Given the description of an element on the screen output the (x, y) to click on. 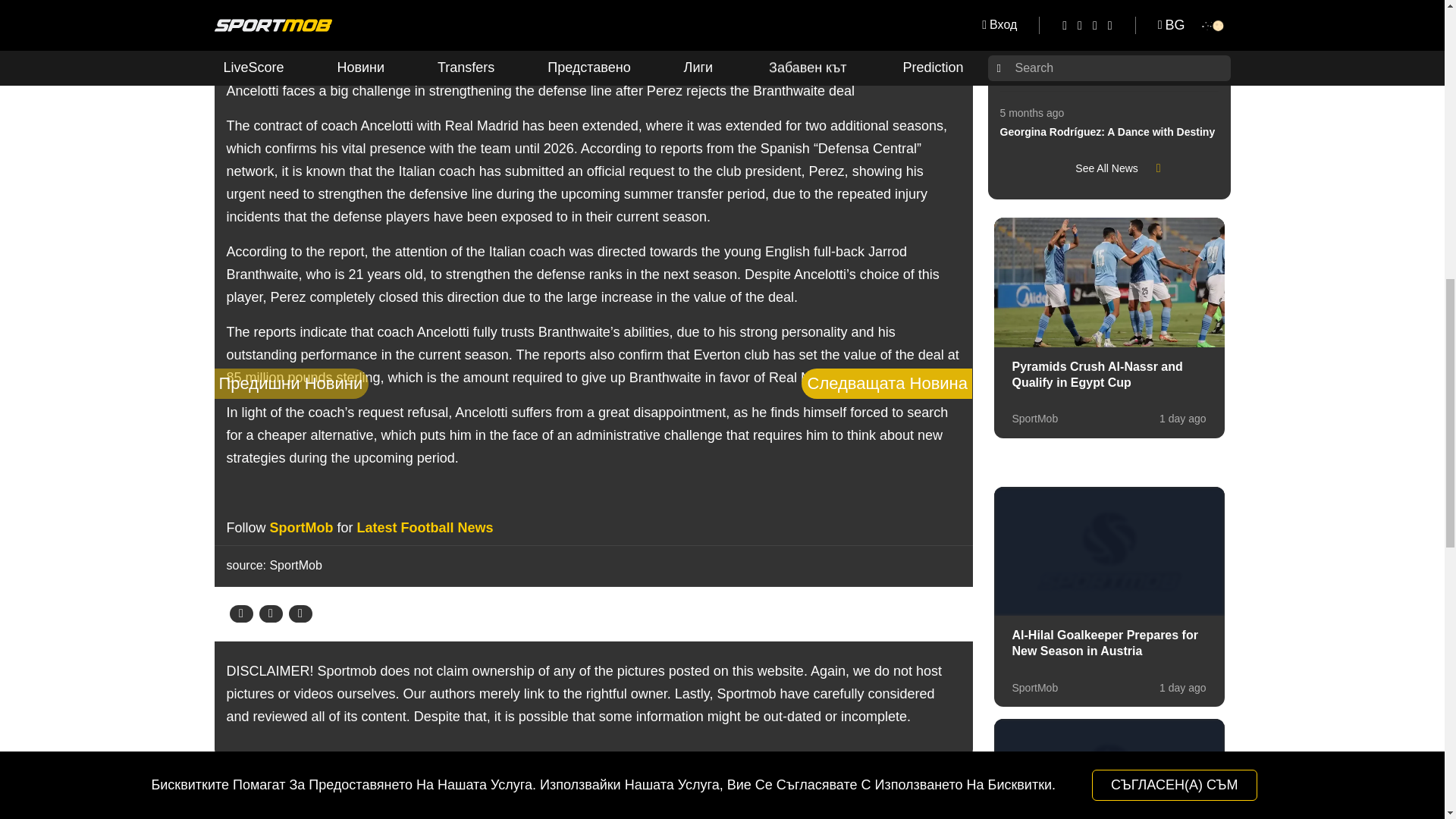
SportMob (301, 527)
Latest Football News (424, 527)
